Given the description of an element on the screen output the (x, y) to click on. 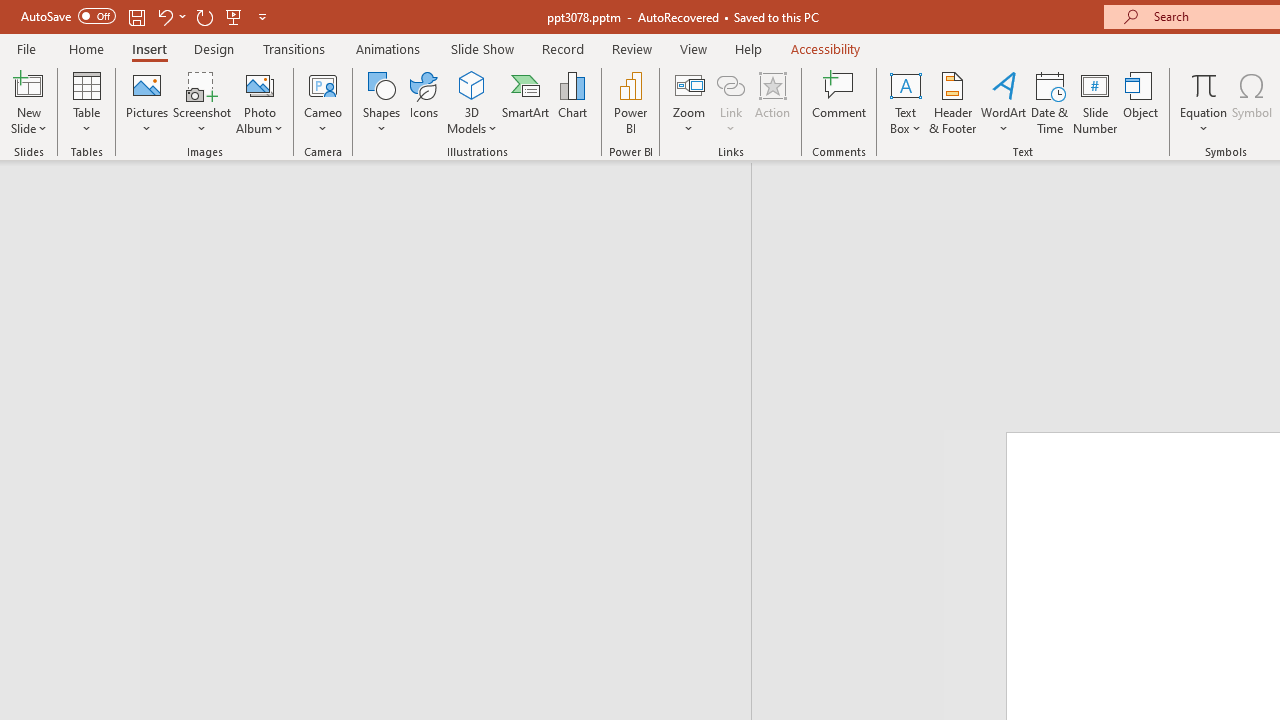
Icons (424, 102)
Draw Horizontal Text Box (905, 84)
Chart... (572, 102)
SmartArt... (525, 102)
Link (731, 102)
